Given the description of an element on the screen output the (x, y) to click on. 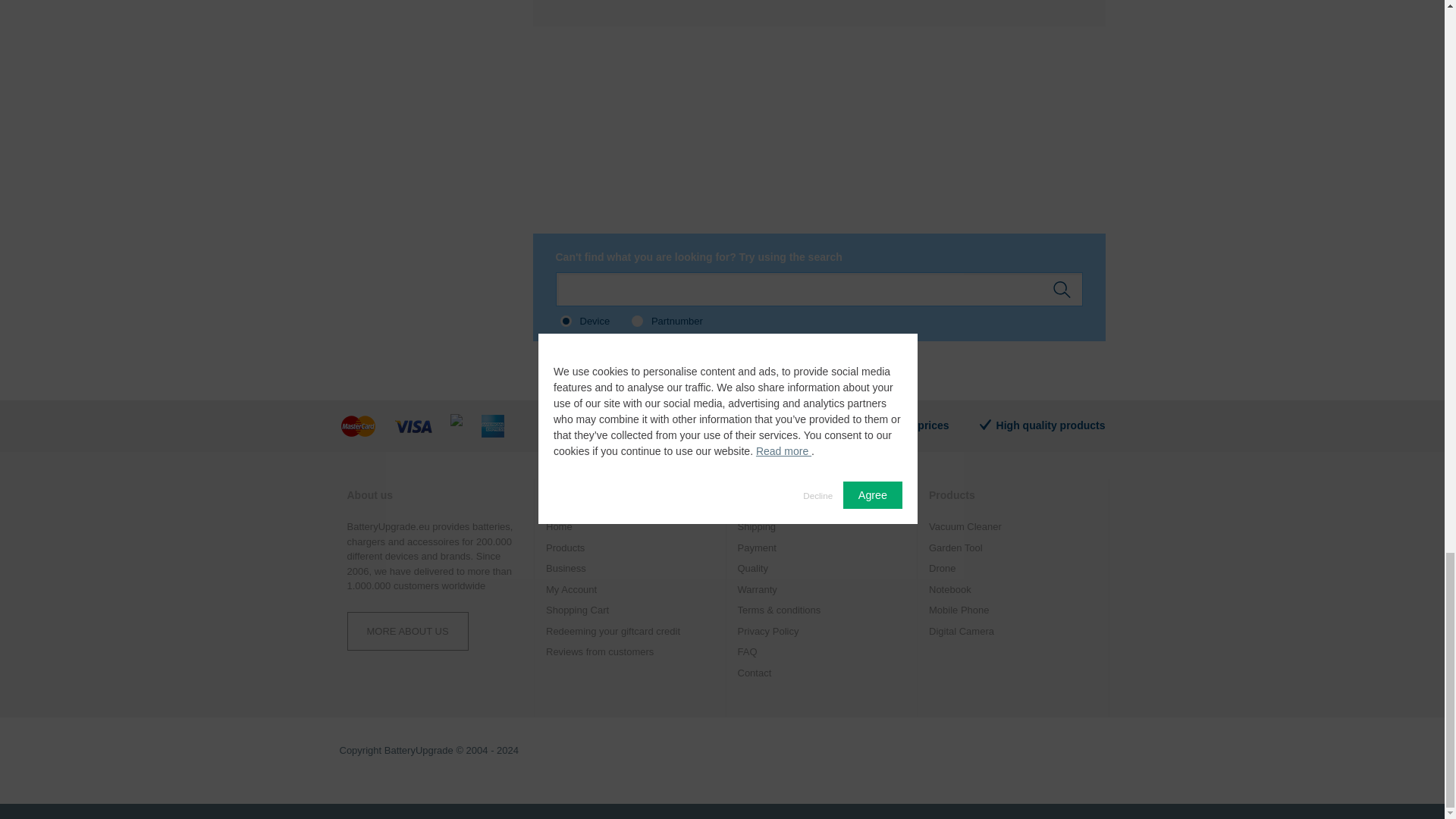
Notebook (1012, 589)
Drone (1012, 568)
Vacuum Cleaner (1012, 526)
Garden Tool (1012, 548)
